Given the description of an element on the screen output the (x, y) to click on. 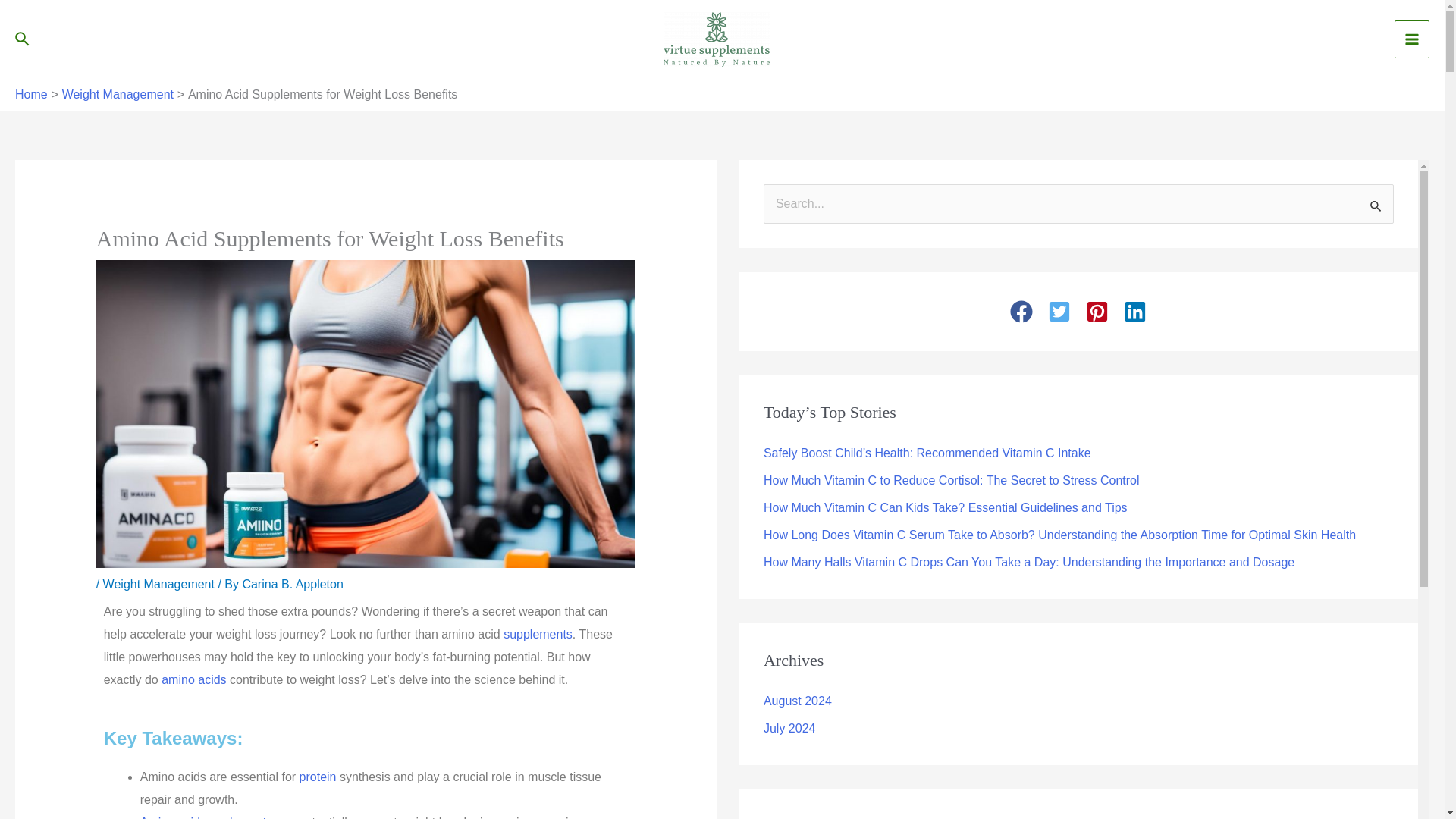
amino acids (193, 679)
View all posts by Carina B. Appleton (291, 584)
Home (31, 93)
Weight Management (117, 93)
Weight Management (158, 584)
Carina B. Appleton (291, 584)
protein (317, 776)
Main Menu (1411, 39)
Amino acid supplements (205, 817)
supplements (537, 634)
